Given the description of an element on the screen output the (x, y) to click on. 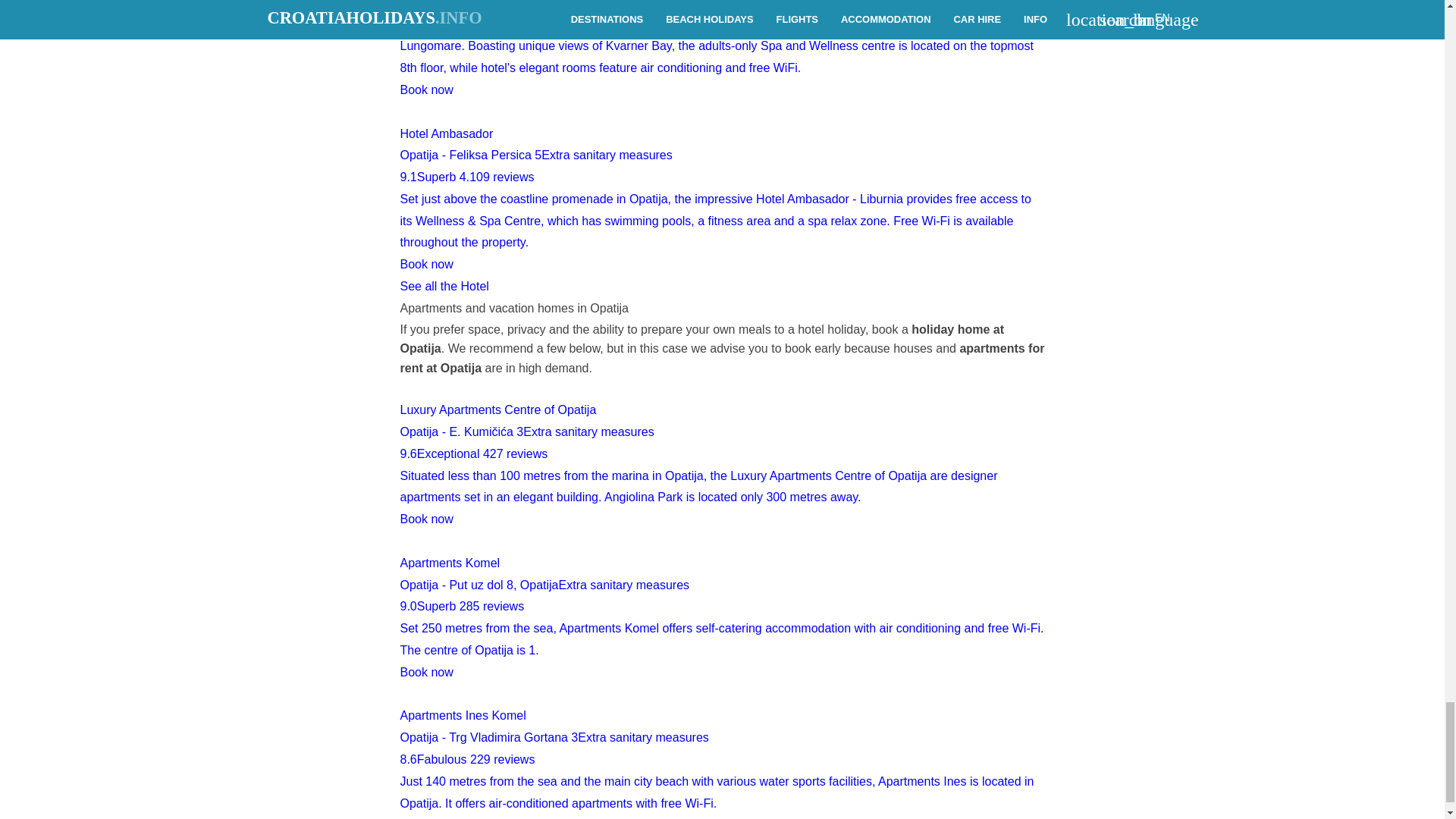
Hotel Ambasador (722, 188)
Grand Hotel Adriatic (722, 50)
Apartments Komel (722, 606)
Luxury Apartments Centre of Opatija (722, 453)
